Given the description of an element on the screen output the (x, y) to click on. 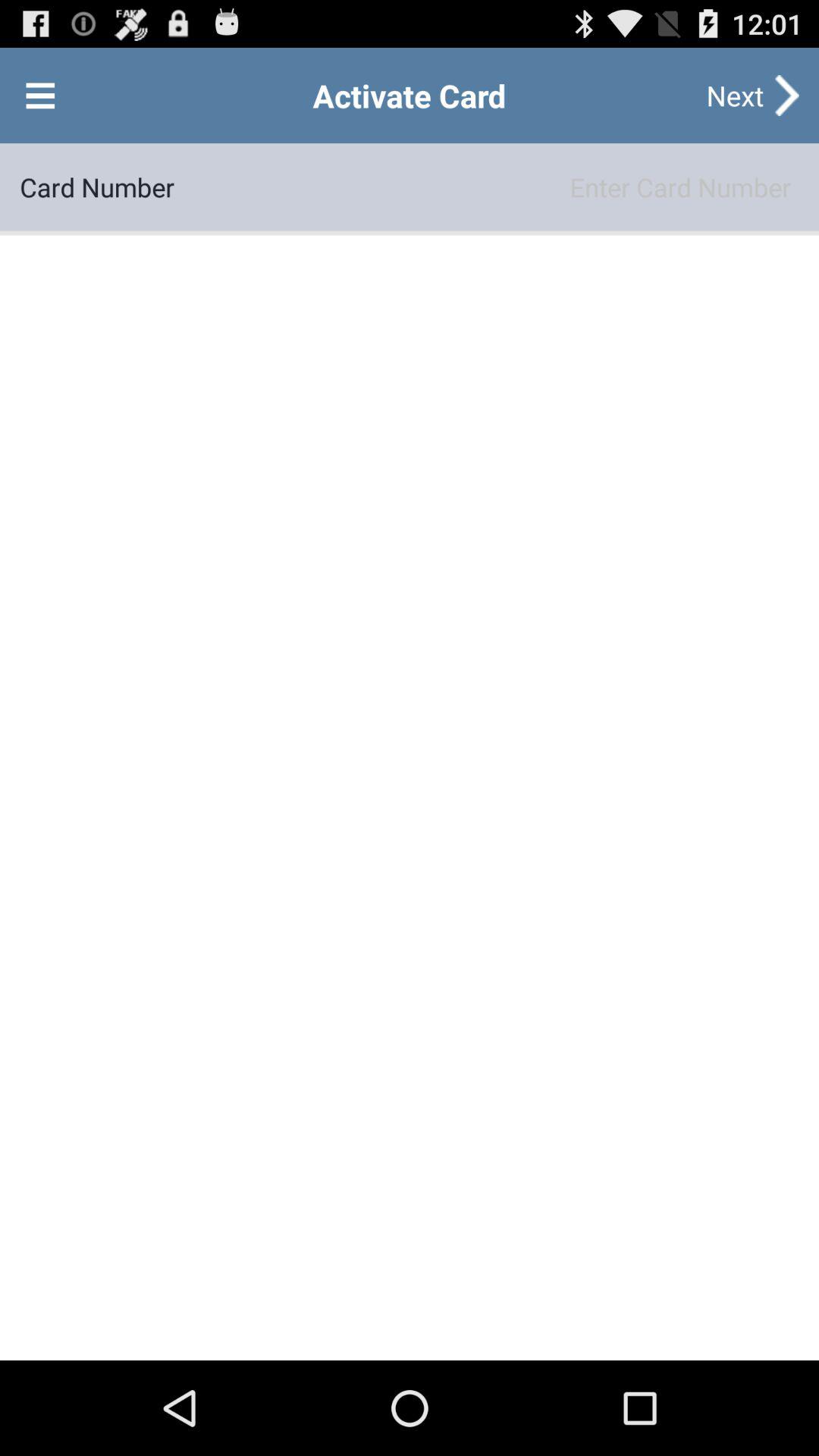
turn off the next icon (735, 95)
